Given the description of an element on the screen output the (x, y) to click on. 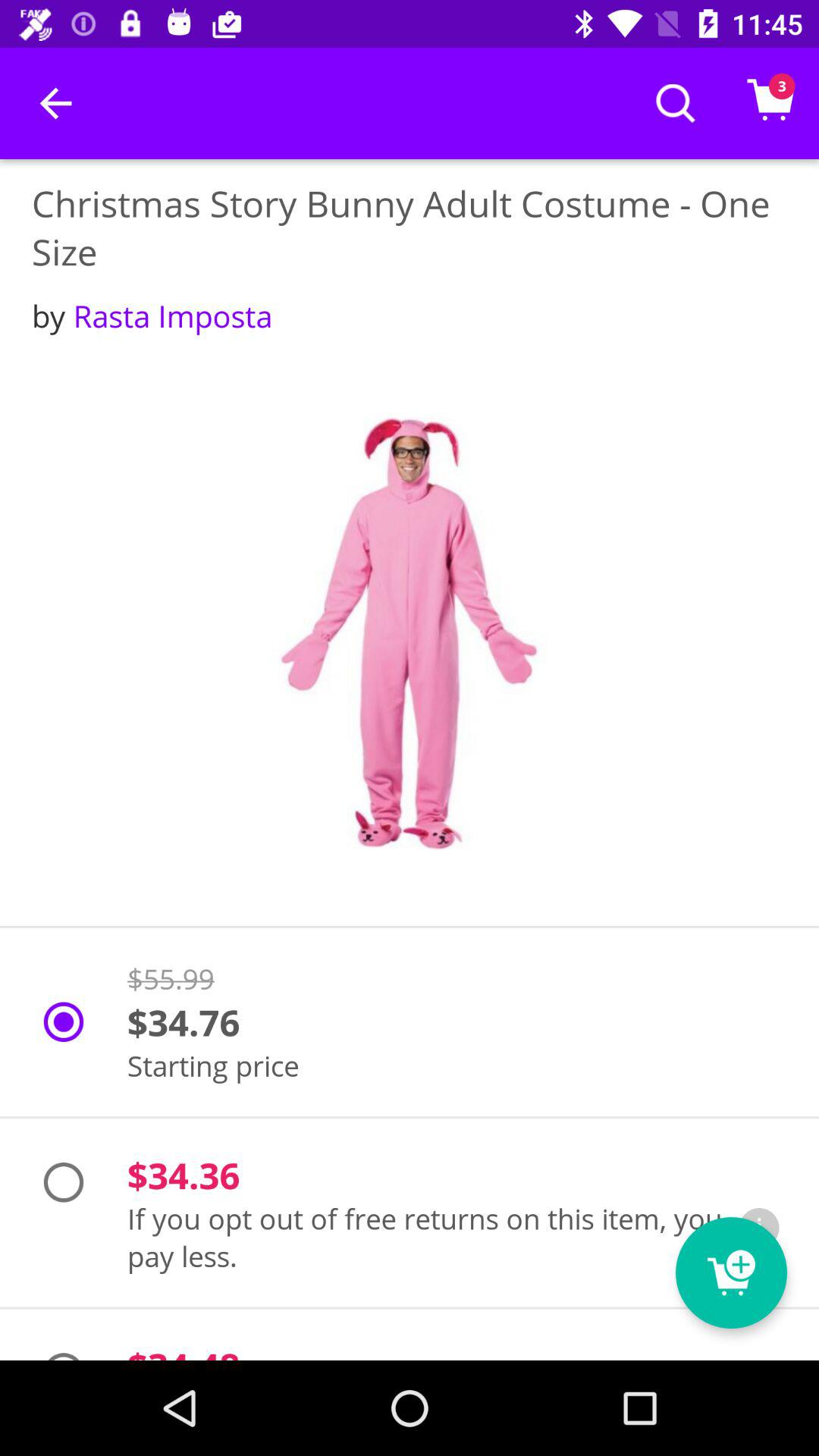
select the icon next to if you opt item (759, 1227)
